Given the description of an element on the screen output the (x, y) to click on. 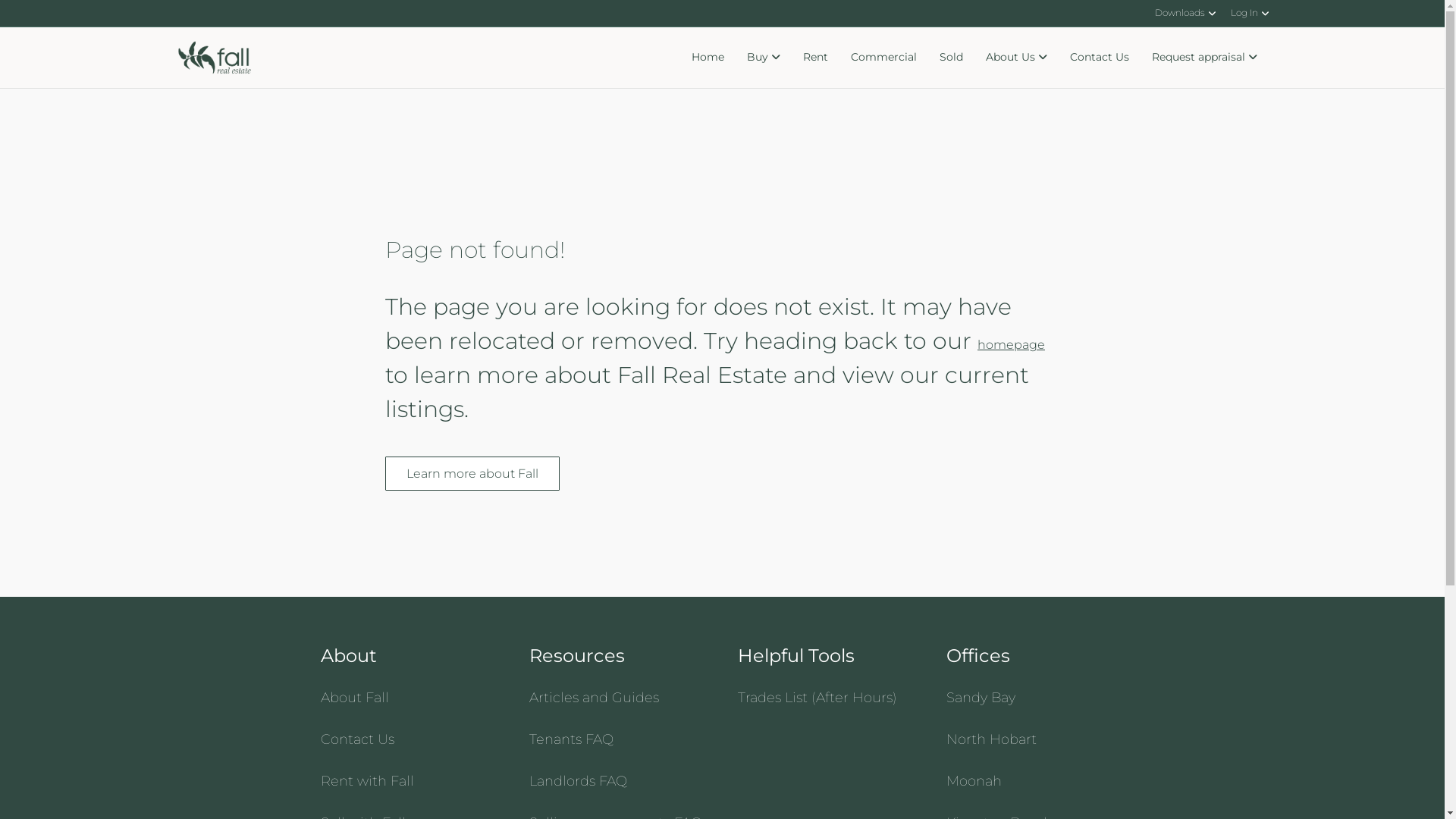
About Fall Element type: text (354, 697)
Rent with Fall Element type: text (366, 780)
Buy Element type: text (763, 57)
Contact Us Element type: text (356, 739)
Commercial Element type: text (882, 57)
Sandy Bay Element type: text (980, 697)
Articles and Guides Element type: text (593, 697)
Sold Element type: text (951, 57)
Downloads Element type: text (1184, 12)
homepage Element type: text (1010, 344)
Learn more about Fall Element type: text (472, 473)
Log In Element type: text (1248, 12)
Moonah Element type: text (973, 780)
Landlords FAQ Element type: text (578, 780)
Contact Us Element type: text (1099, 57)
Request appraisal Element type: text (1204, 57)
Rent Element type: text (815, 57)
North Hobart Element type: text (991, 739)
Trades List (After Hours) Element type: text (816, 697)
About Us Element type: text (1015, 57)
Tenants FAQ Element type: text (571, 739)
Home Element type: text (706, 57)
